Given the description of an element on the screen output the (x, y) to click on. 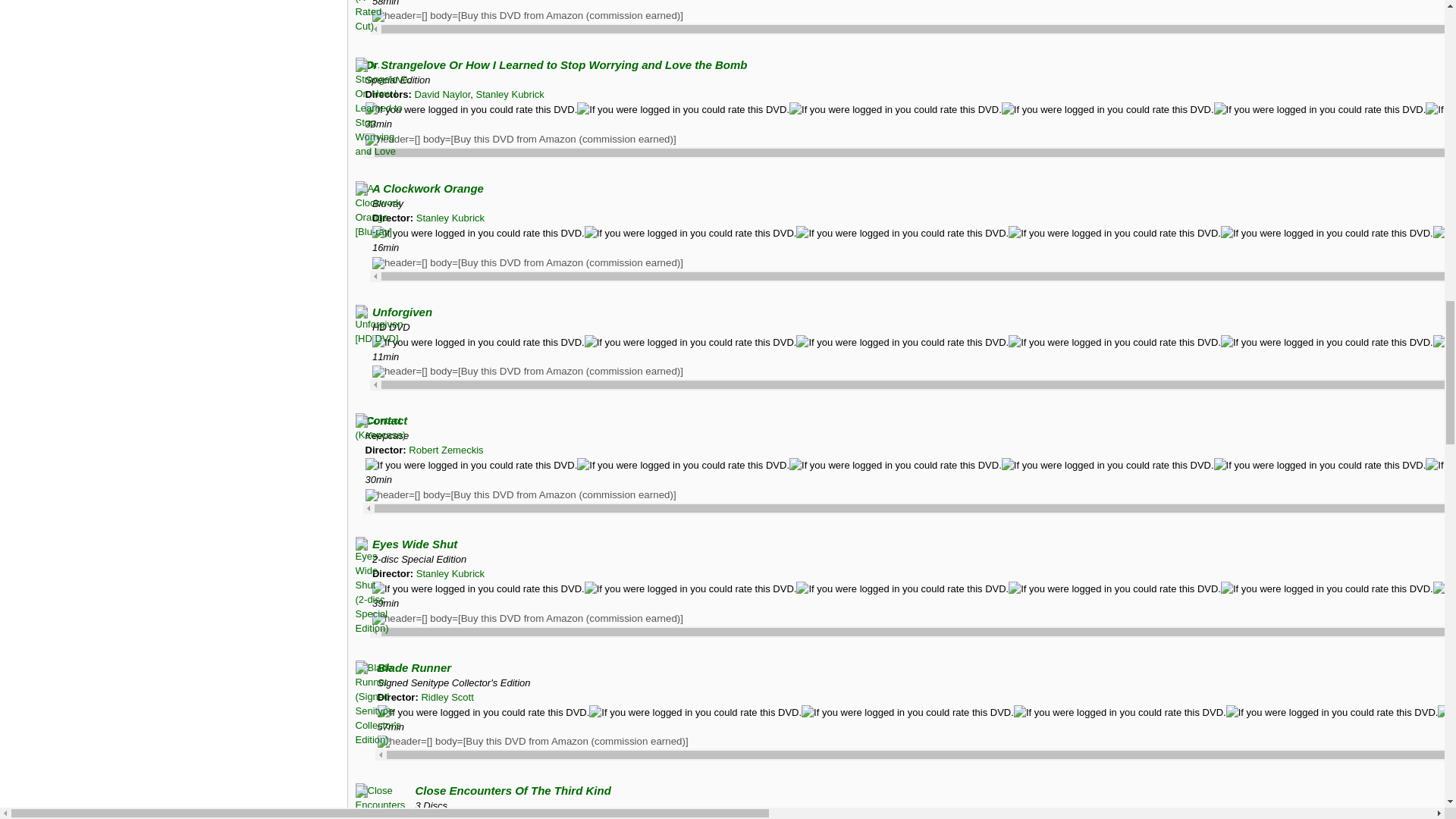
Buy from Amazon (527, 618)
Buy from Amazon (521, 139)
Buy from Amazon (527, 371)
Buy from Amazon (527, 15)
Buy from Amazon (521, 494)
Buy from Amazon (527, 263)
